Given the description of an element on the screen output the (x, y) to click on. 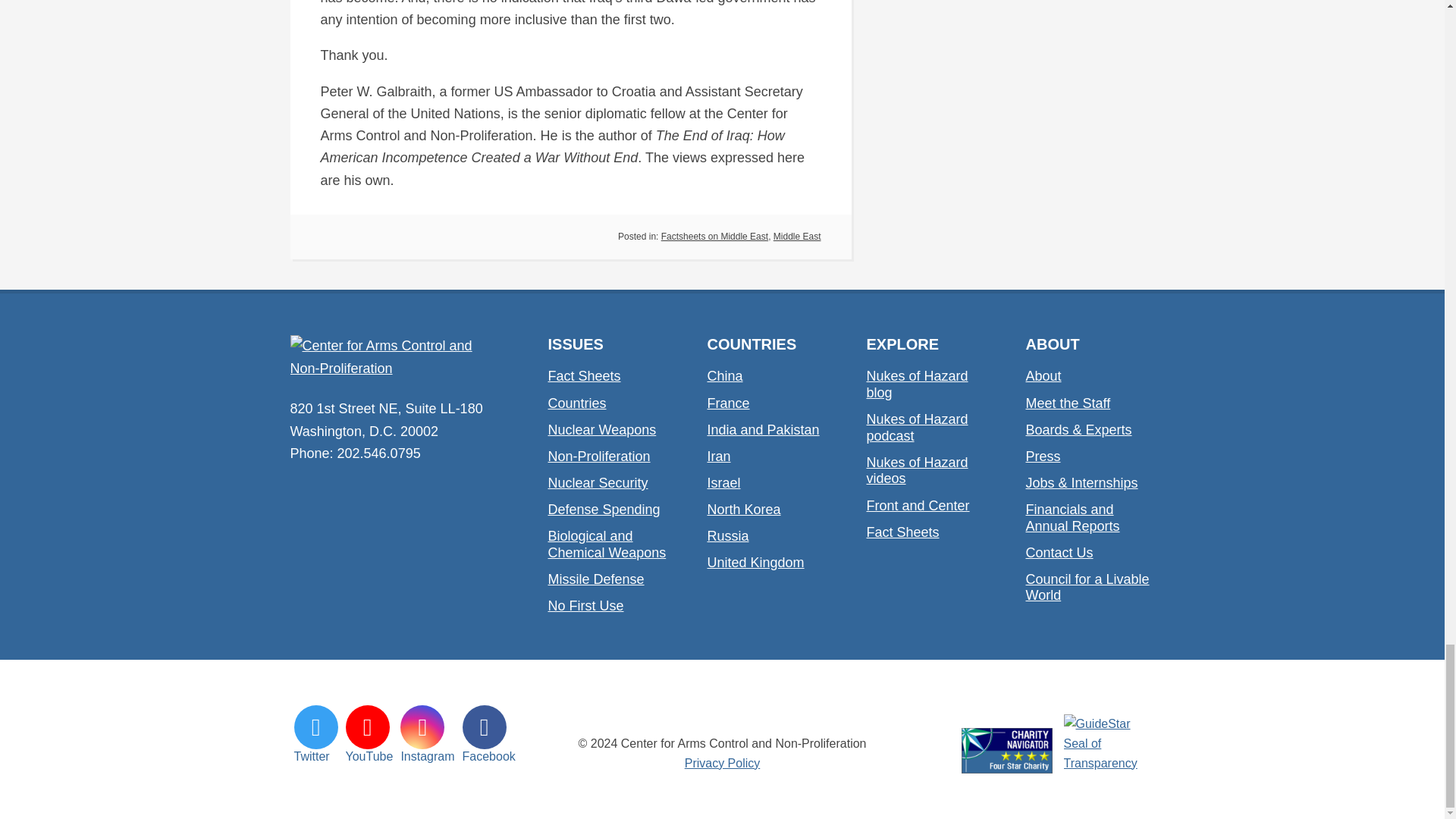
Middle East (797, 235)
Factsheets on Middle East (714, 235)
